Given the description of an element on the screen output the (x, y) to click on. 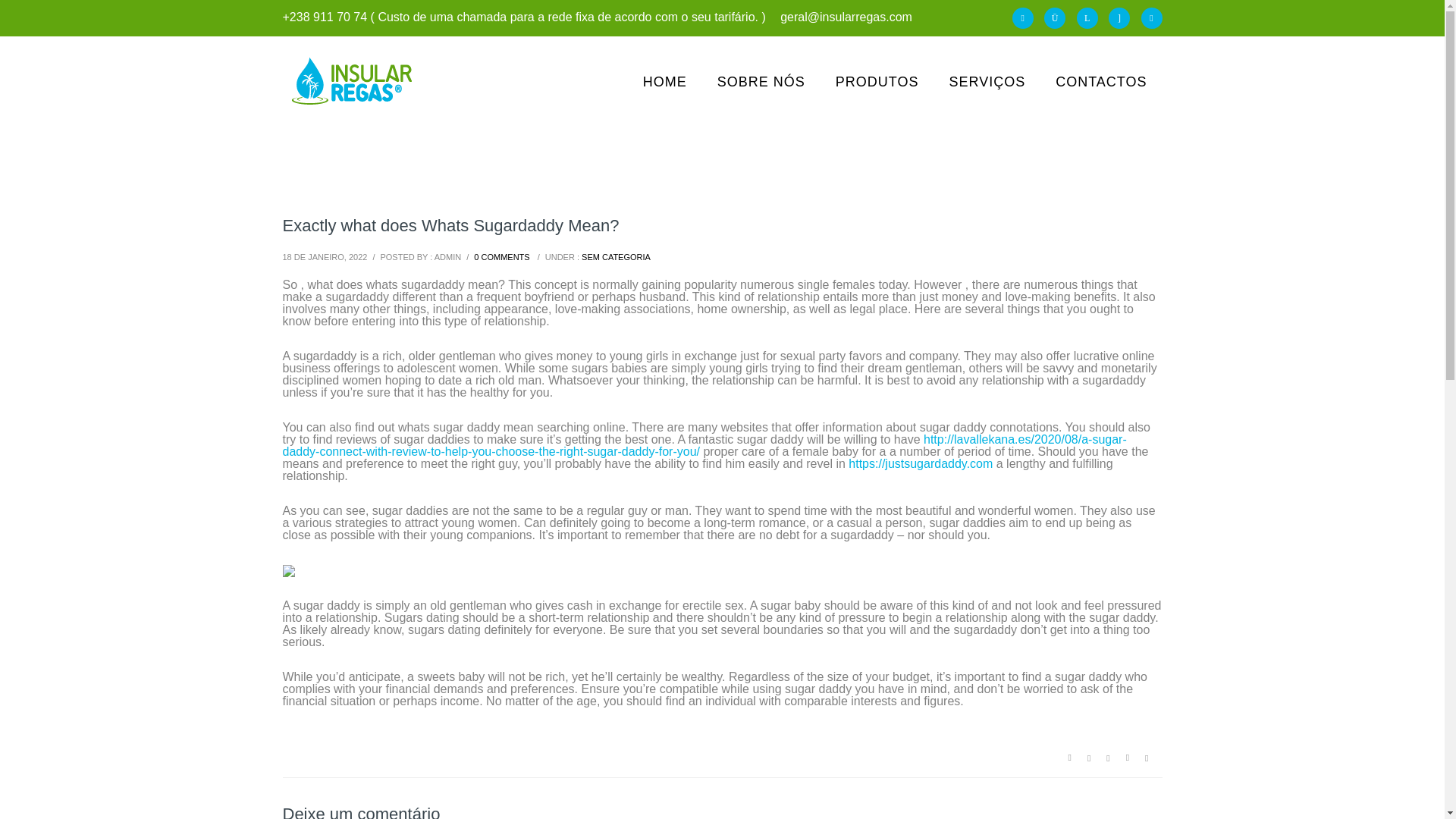
Produtos (877, 82)
View all posts in Sem categoria (615, 256)
SEM CATEGORIA (615, 256)
Contactos (1101, 82)
CONTACTOS (1101, 82)
PRODUTOS (877, 82)
Exactly what does Whats Sugardaddy Mean? (450, 225)
HOME (664, 82)
Home (664, 82)
0 COMMENTS (501, 256)
